Given the description of an element on the screen output the (x, y) to click on. 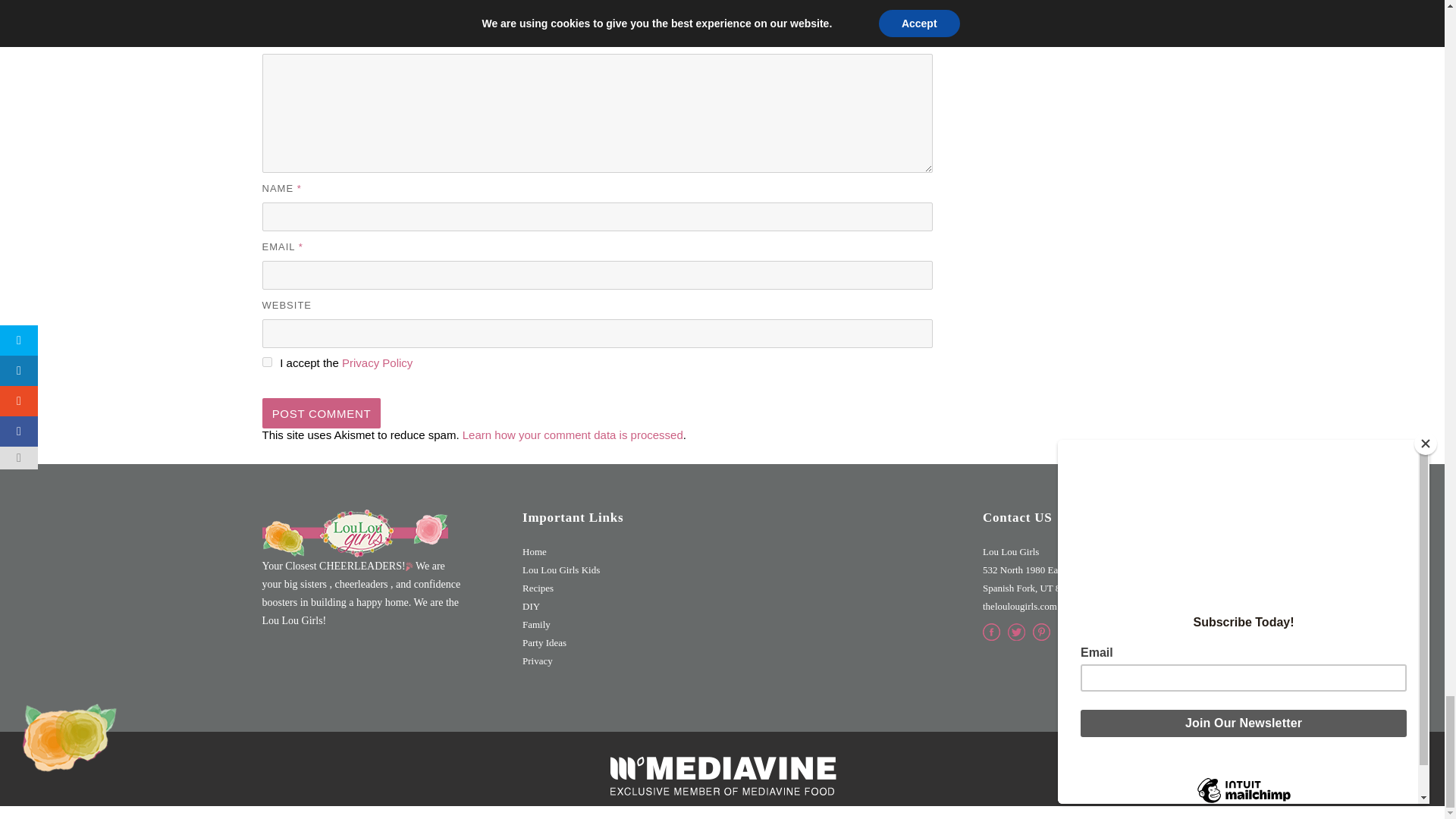
1 (267, 361)
Post Comment (321, 412)
